Given the description of an element on the screen output the (x, y) to click on. 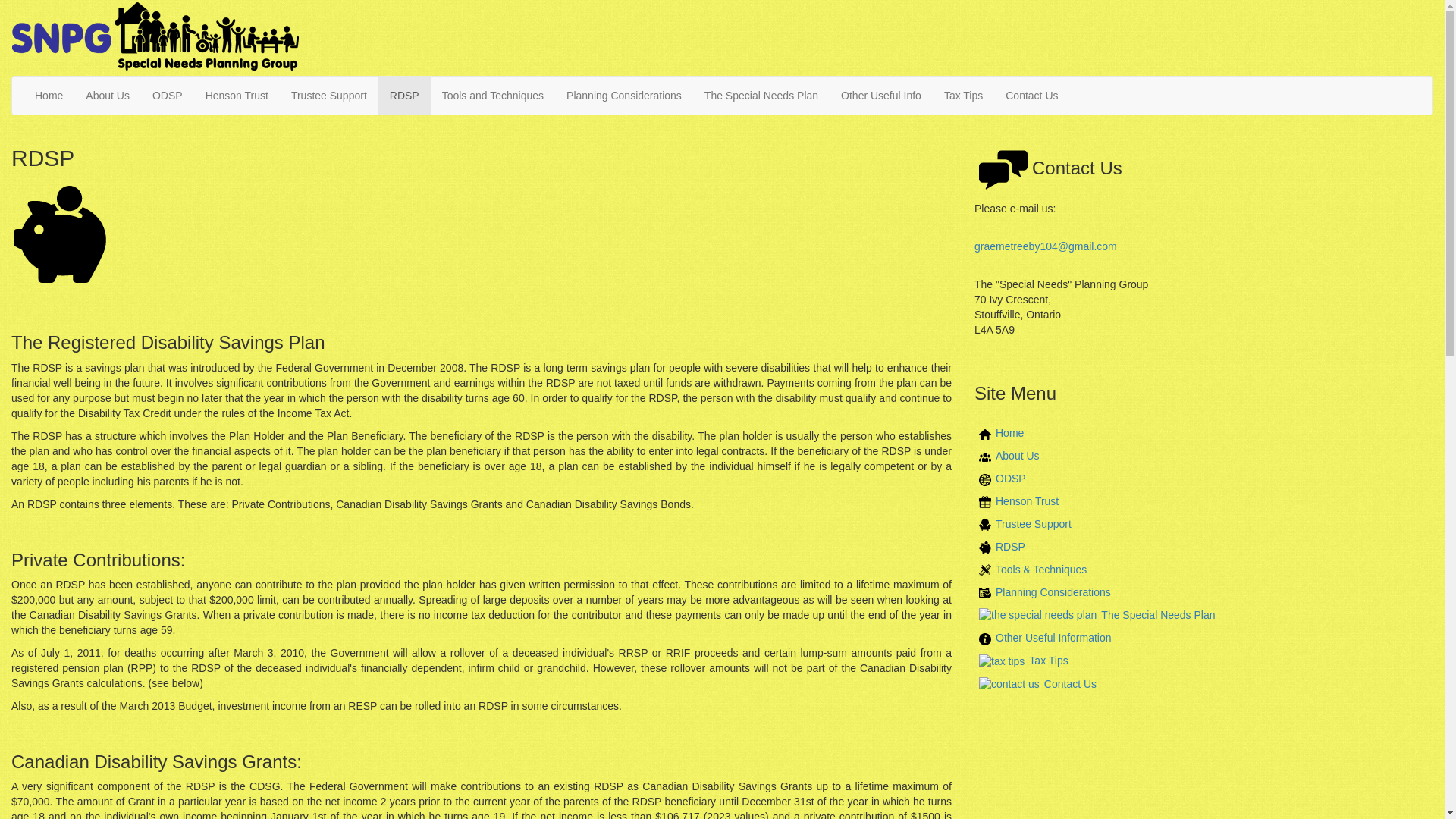
The Special Needs Plan (761, 95)
Henson Trust (1026, 500)
RDSP (404, 95)
Other Useful Info (881, 95)
Contact Us (1035, 684)
Planning Considerations (623, 95)
Trustee Support (1022, 523)
Home (998, 440)
Tax Tips (1021, 660)
Other Useful Information (1043, 637)
